Given the description of an element on the screen output the (x, y) to click on. 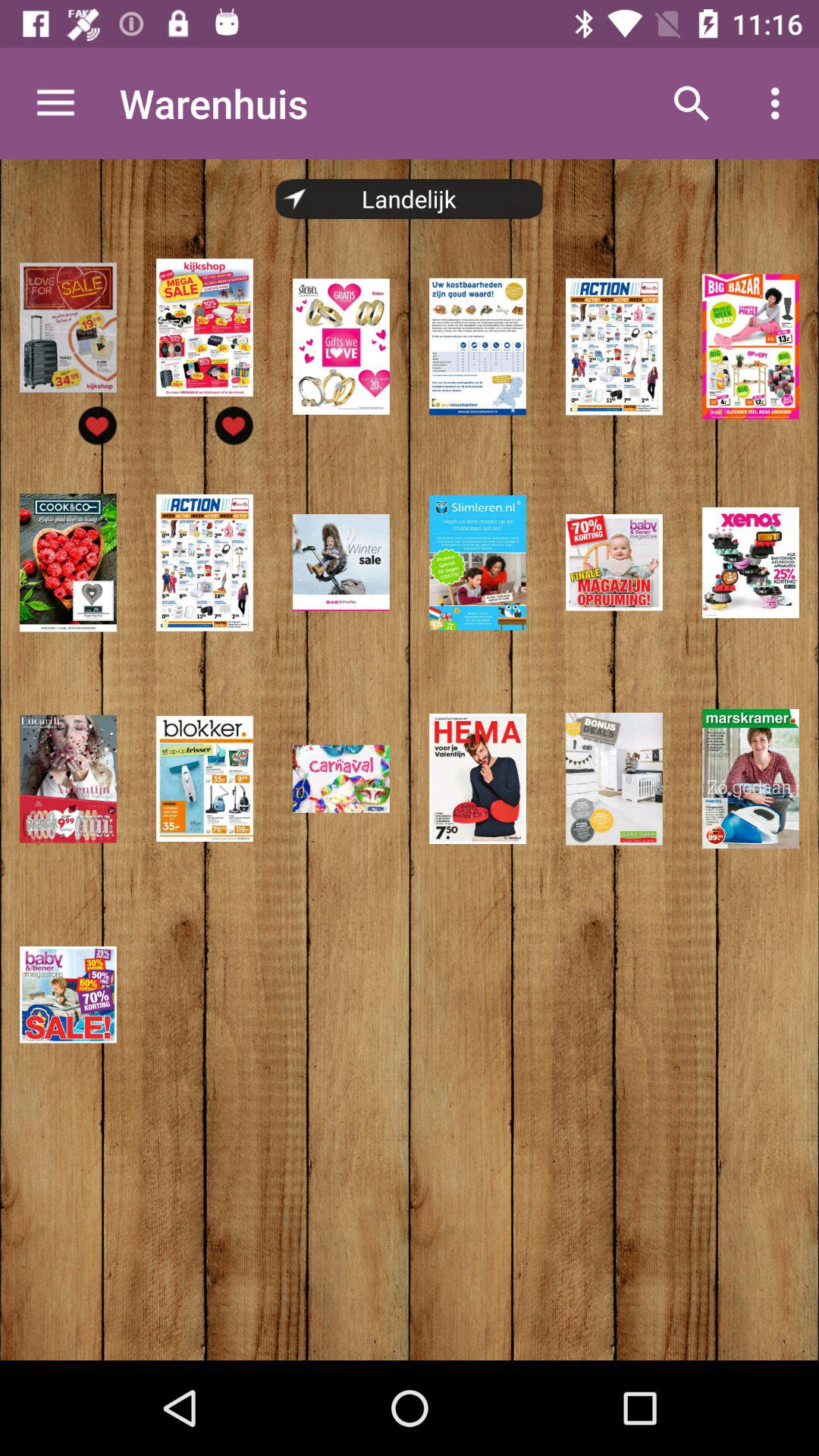
select the last image  (68, 995)
click on the 5th image in the first row (613, 346)
select the third image in the second row (340, 562)
click on the image which says gifts we love (340, 346)
